Given the description of an element on the screen output the (x, y) to click on. 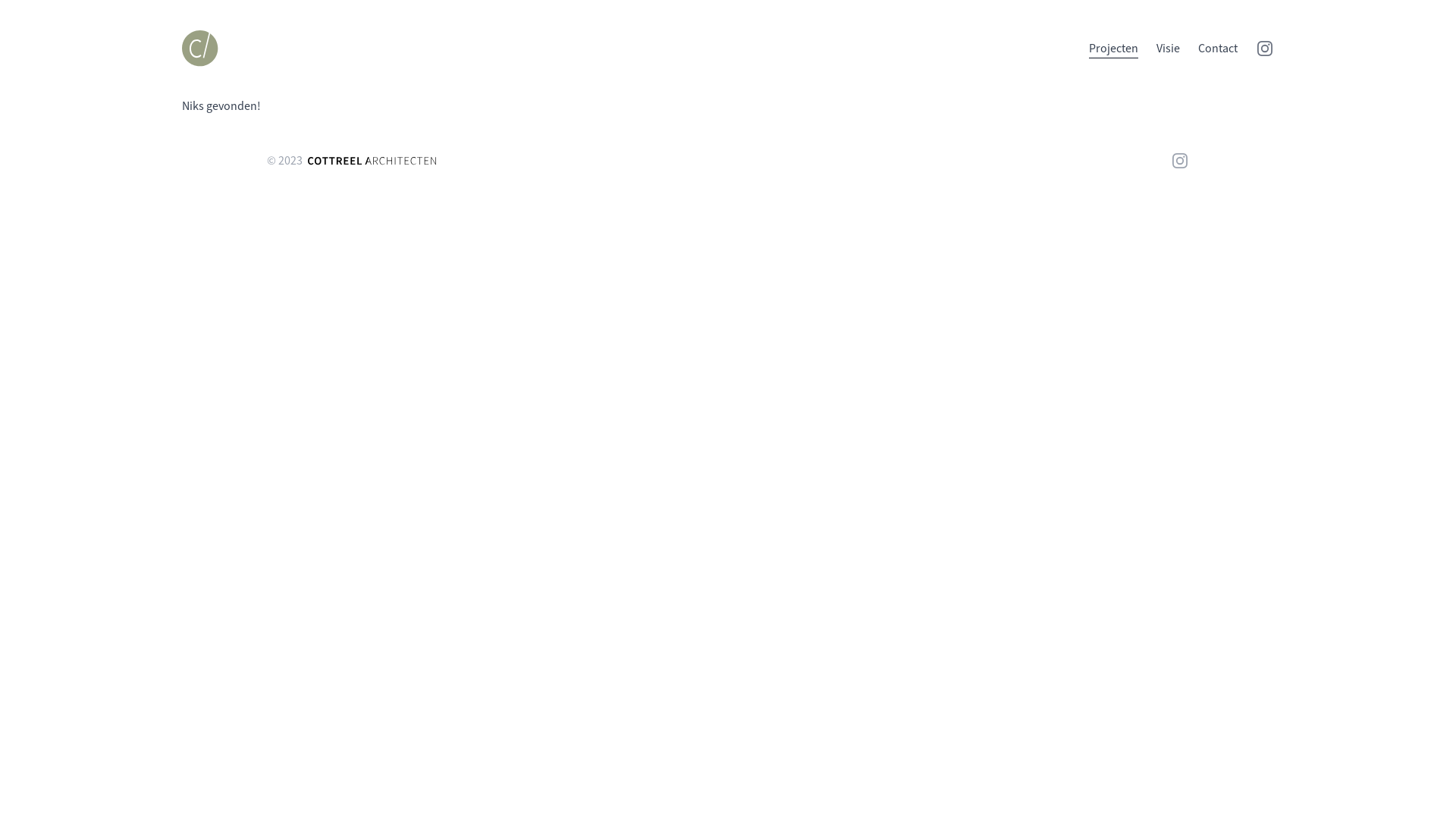
Instagram Element type: text (1179, 160)
Contact Element type: text (1217, 48)
Instagram Element type: text (1264, 48)
Visie Element type: text (1167, 48)
Projecten Element type: text (1113, 48)
